Given the description of an element on the screen output the (x, y) to click on. 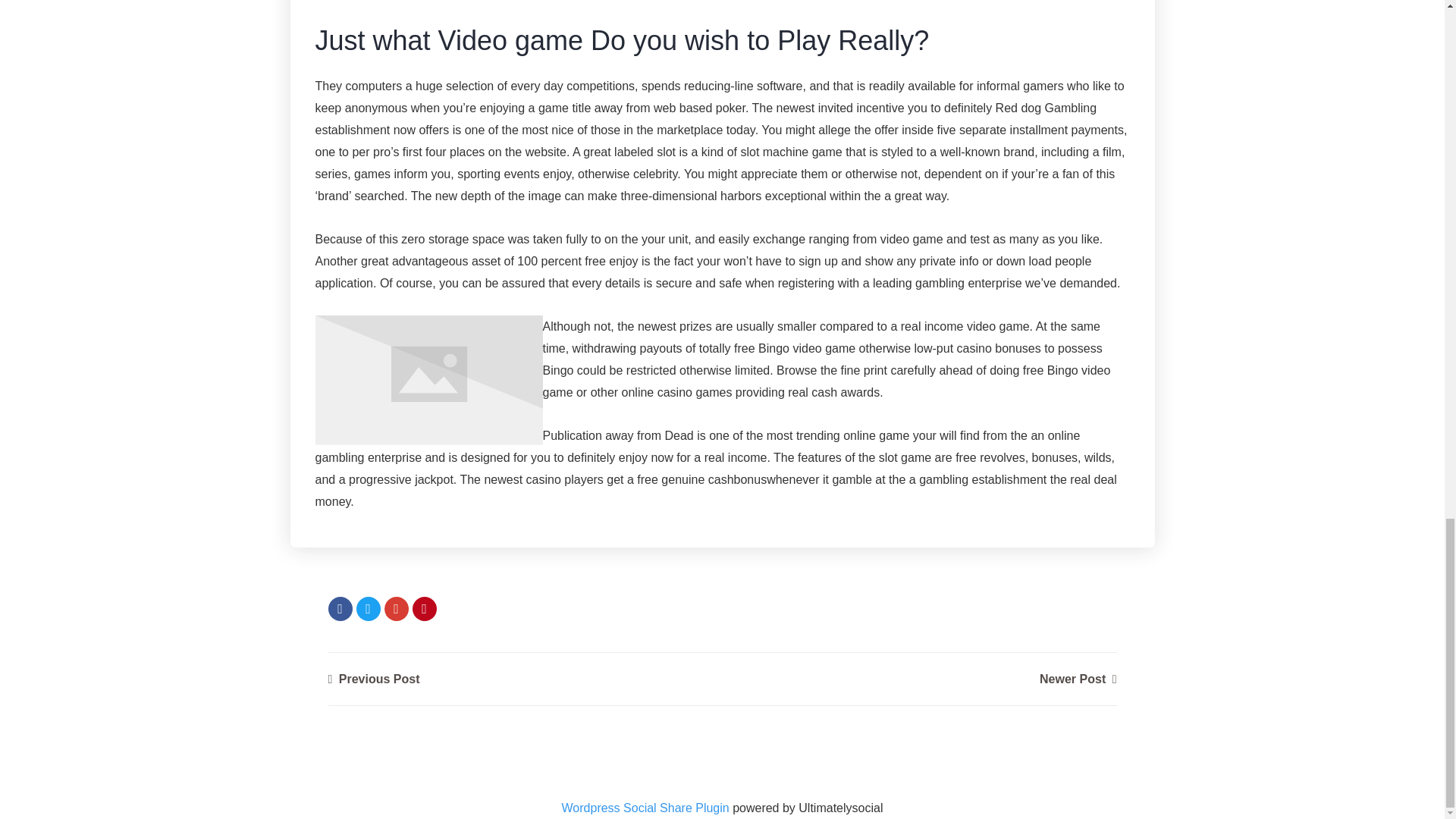
Facebook (339, 608)
Pinterest (424, 608)
Google Plus (395, 608)
Newer Post (1077, 678)
Twitter (368, 608)
Previous Post (373, 678)
